Given the description of an element on the screen output the (x, y) to click on. 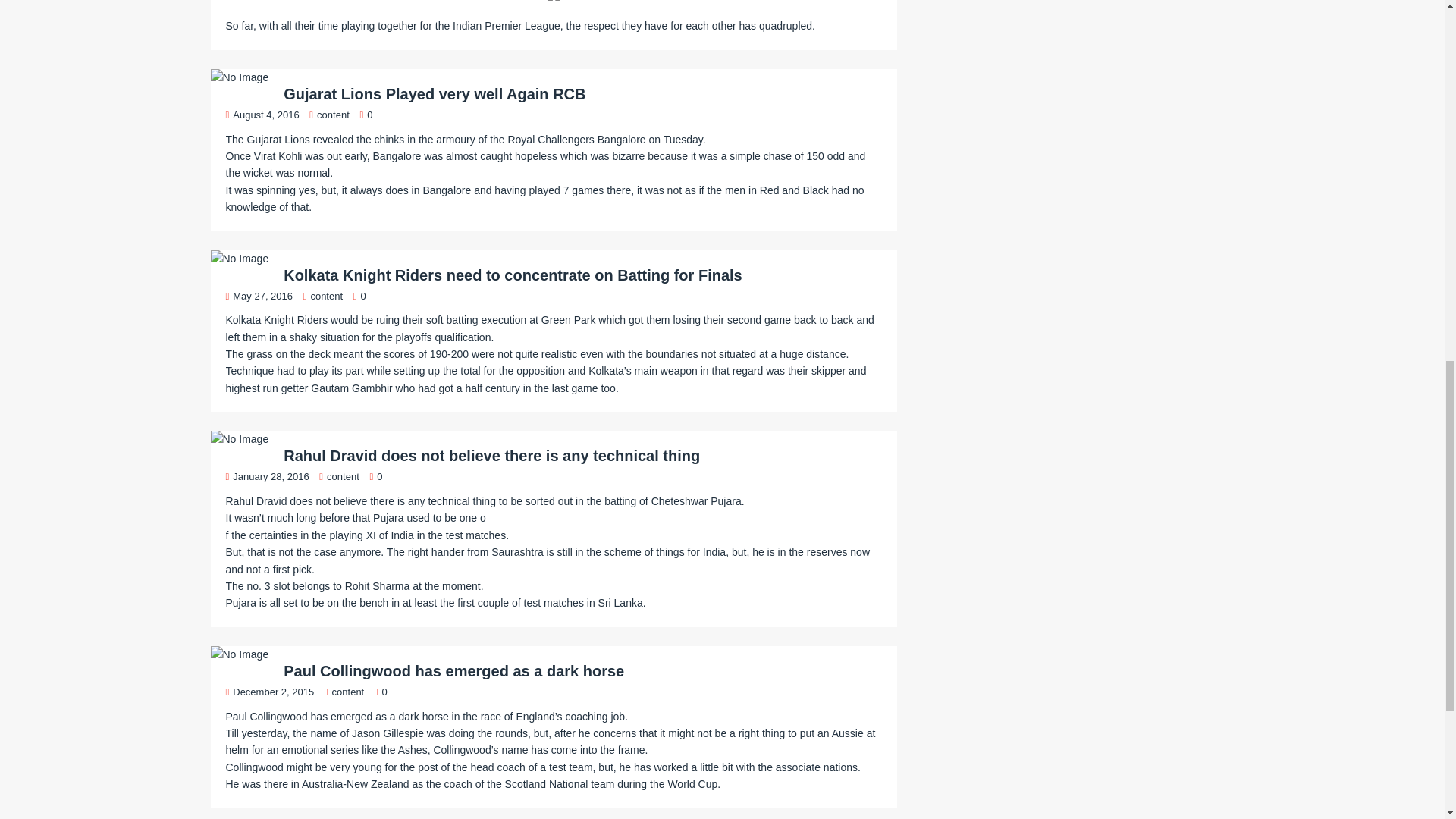
Rahul Dravid does not believe there is any technical thing (491, 455)
content (342, 476)
content (326, 295)
content (333, 114)
Gujarat Lions Played very well Again RCB (434, 93)
